Given the description of an element on the screen output the (x, y) to click on. 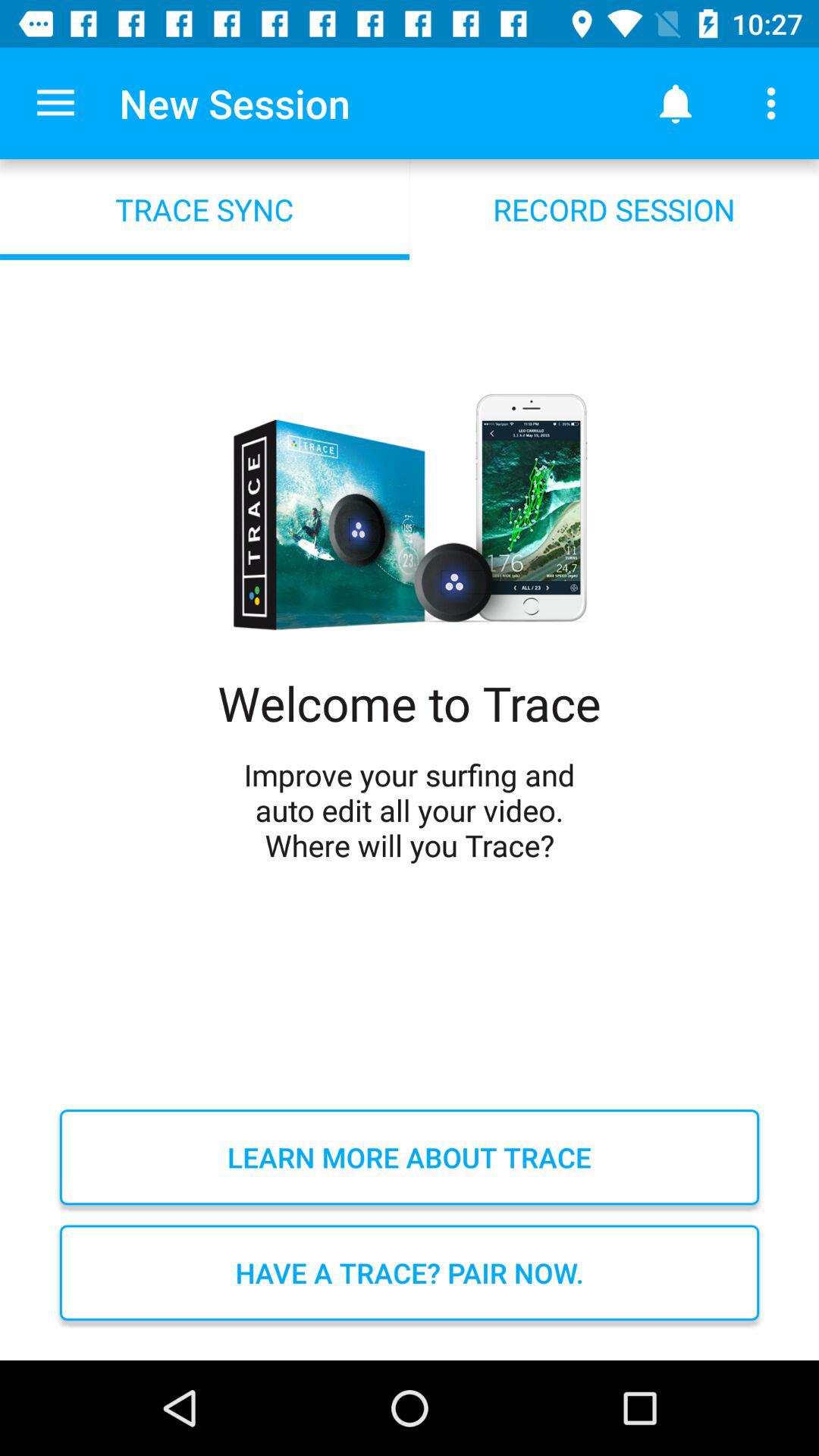
press icon above record session item (771, 103)
